Given the description of an element on the screen output the (x, y) to click on. 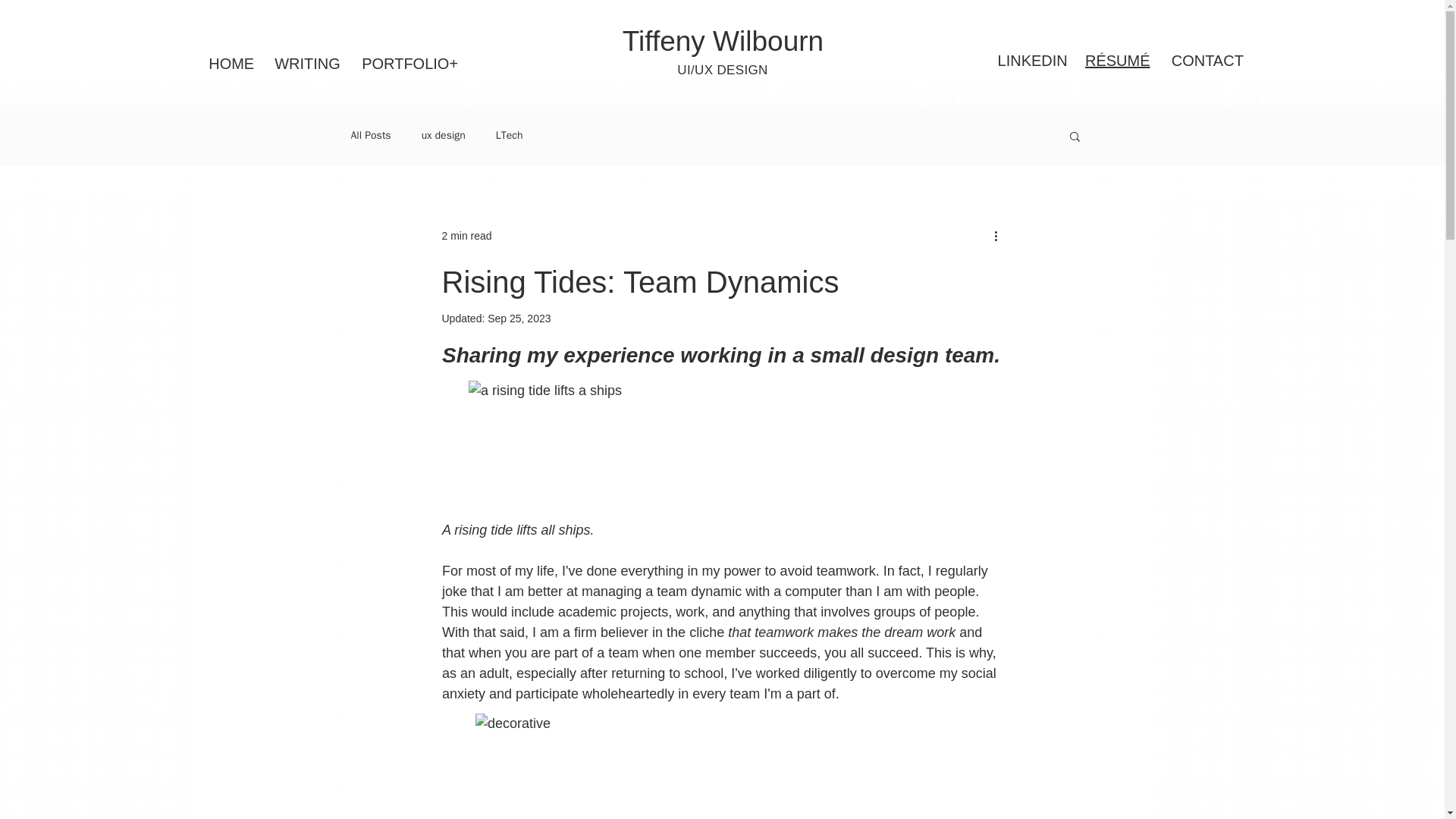
2 min read (466, 235)
CONTACT (1207, 60)
LTech (509, 135)
All Posts (370, 135)
ux design (443, 135)
Sep 25, 2023 (518, 318)
Tiffeny Wilbourn (723, 40)
HOME (229, 63)
LINKEDIN (1032, 60)
